Given the description of an element on the screen output the (x, y) to click on. 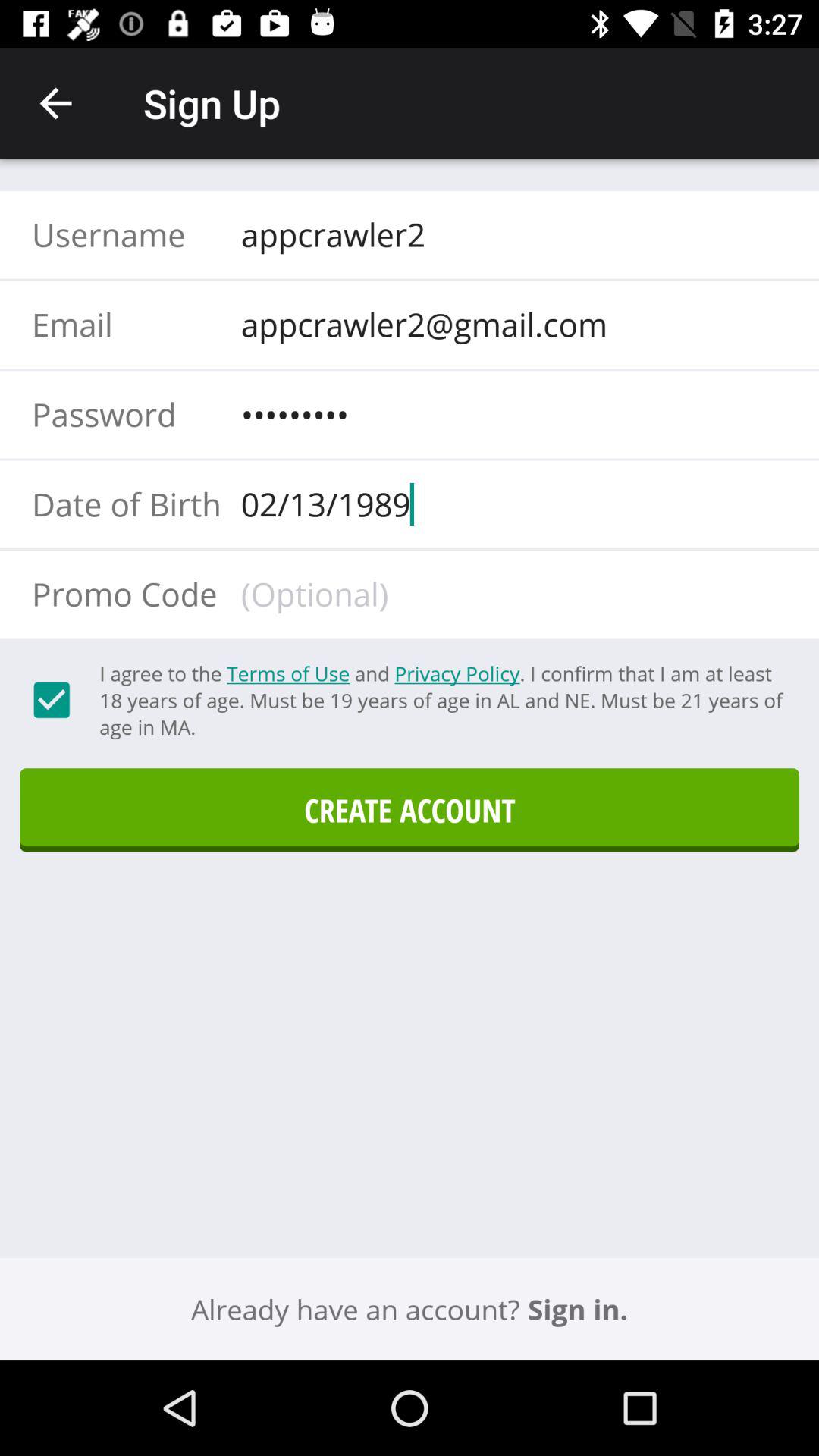
swipe to the i agree to (441, 700)
